Given the description of an element on the screen output the (x, y) to click on. 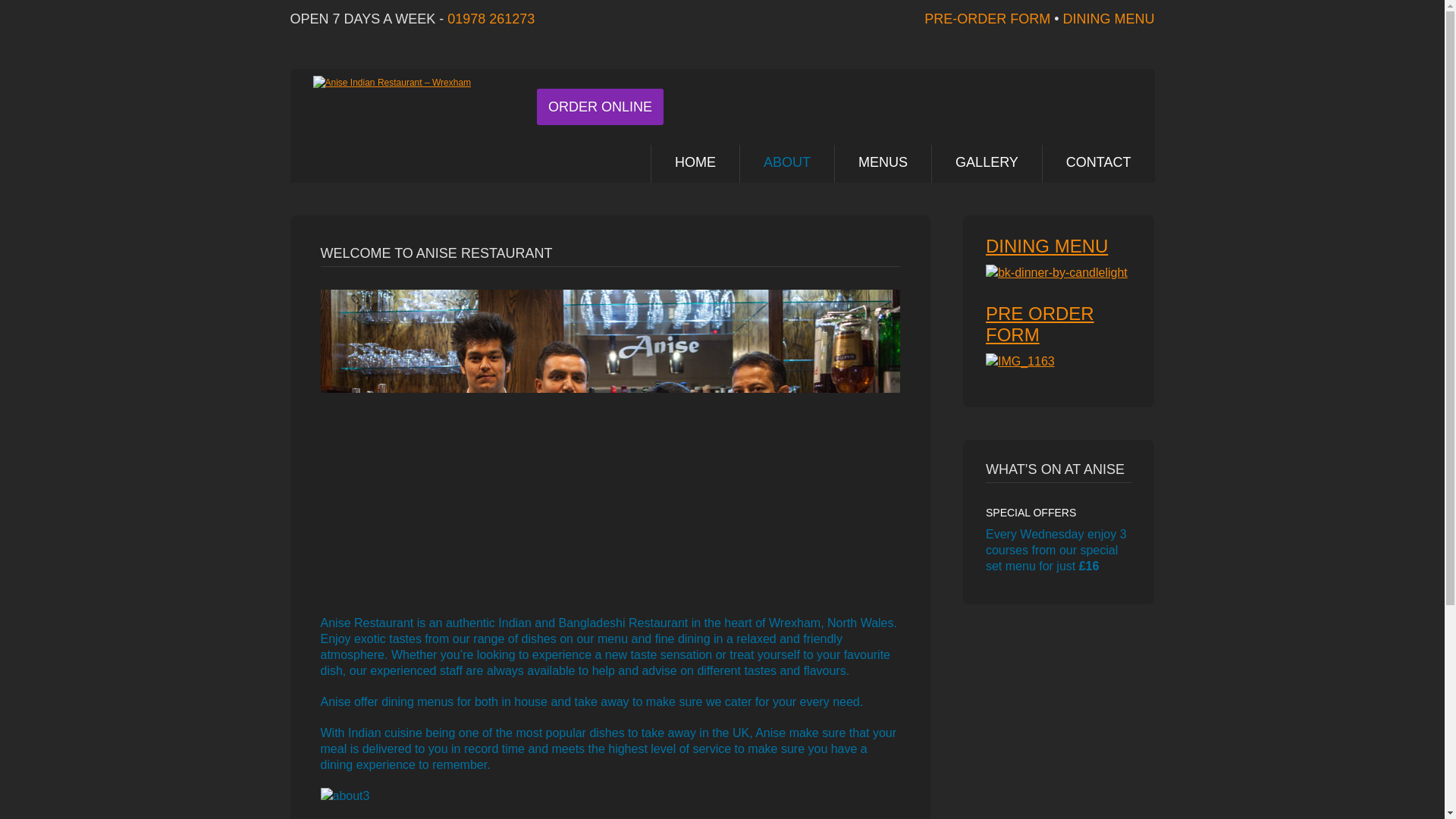
A Unique Bangladeshi and Indian Dining Experience (391, 82)
PRE-ORDER FORM (986, 18)
PRE ORDER FORM (1039, 323)
GALLERY (986, 163)
01978 261273 (490, 18)
MENUS (882, 163)
DINING MENU (1108, 18)
DINING MENU (1046, 245)
ABOUT (786, 163)
HOME (694, 163)
